Given the description of an element on the screen output the (x, y) to click on. 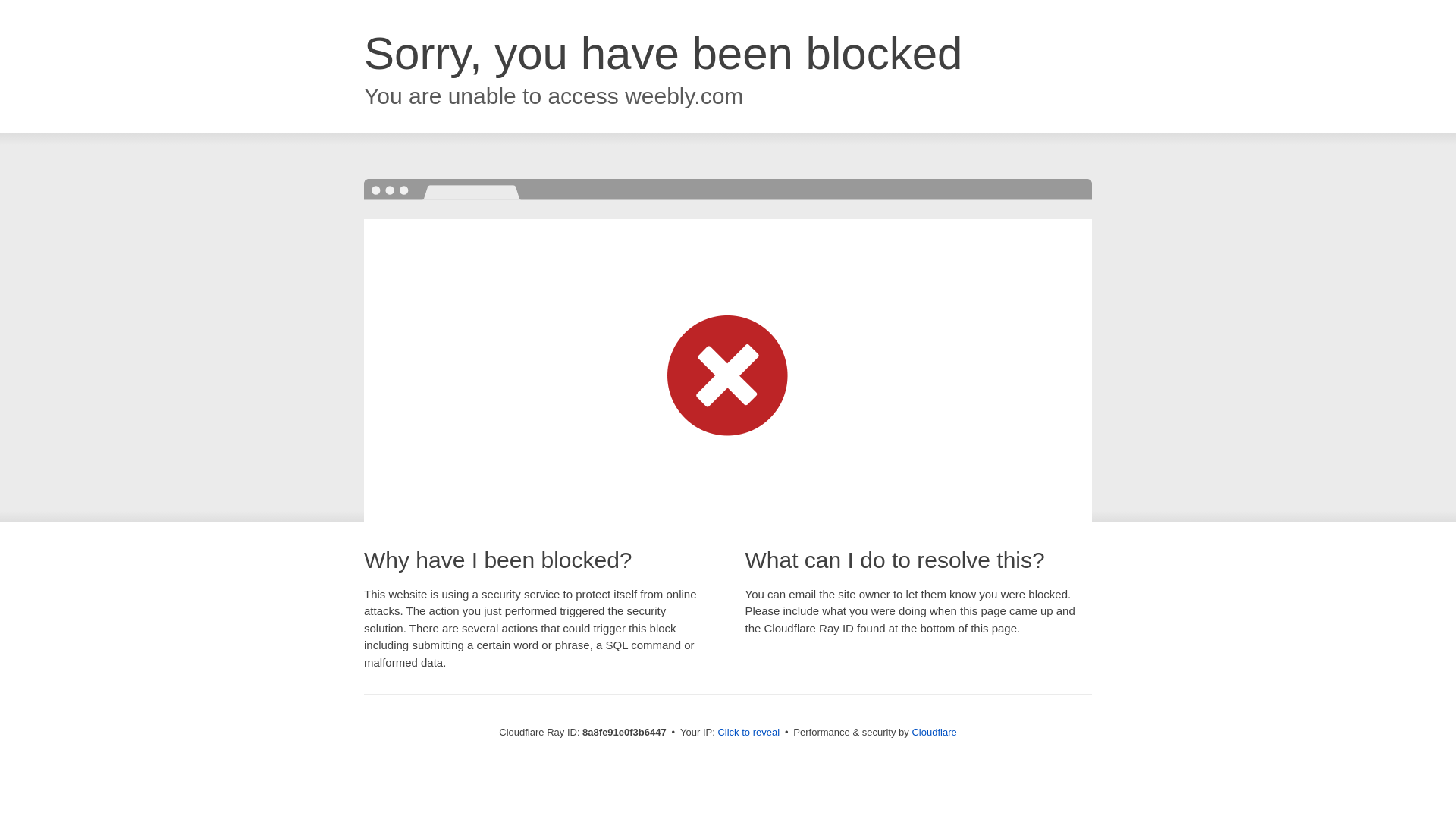
Cloudflare (933, 731)
Click to reveal (747, 732)
